Given the description of an element on the screen output the (x, y) to click on. 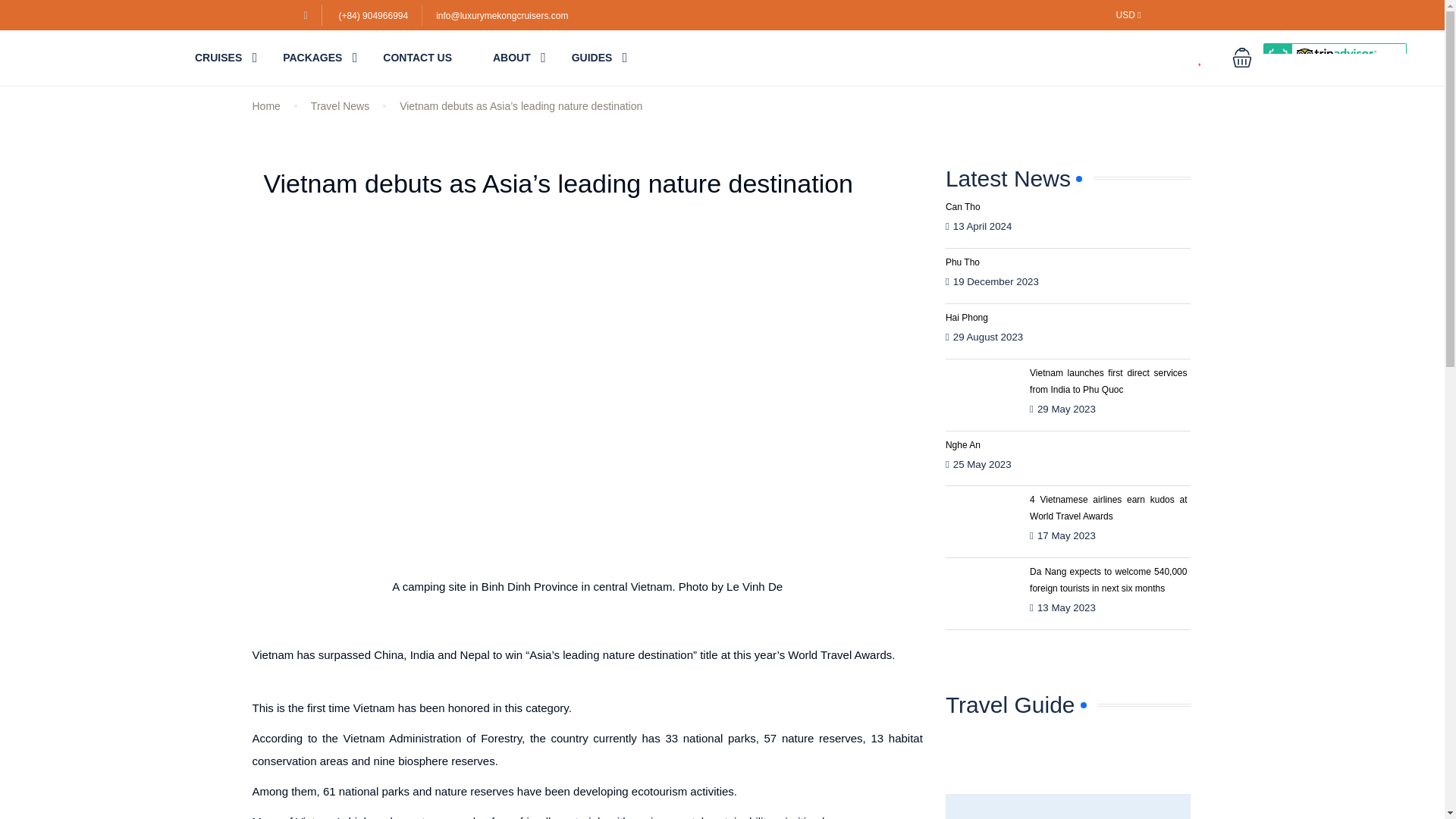
CRUISES (218, 57)
USD (1128, 14)
PACKAGES (312, 57)
View your wishlist (1209, 57)
